Given the description of an element on the screen output the (x, y) to click on. 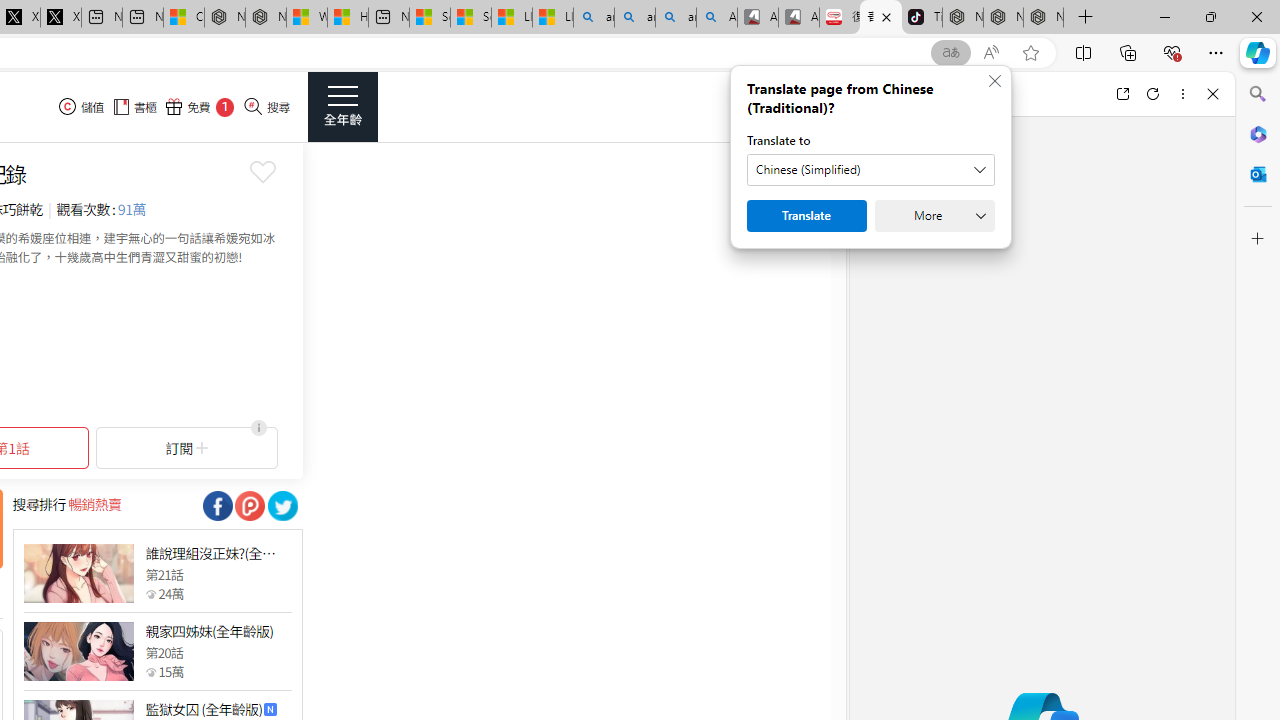
Translate to (870, 169)
Customize (1258, 239)
Amazon Echo Robot - Search Images (717, 17)
Open link in new tab (1122, 93)
Outlook (1258, 174)
